Given the description of an element on the screen output the (x, y) to click on. 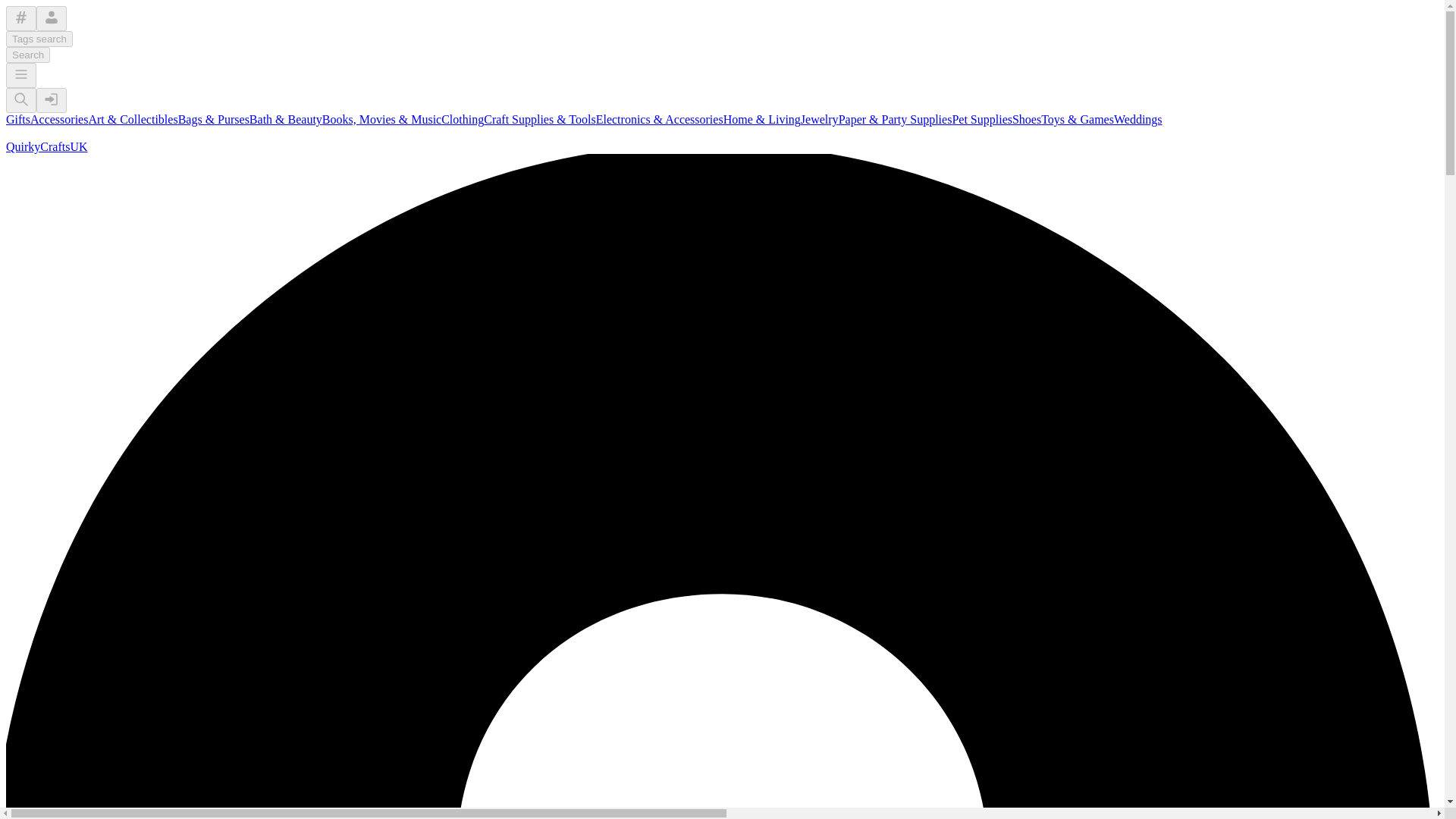
Clothing (462, 119)
Jewelry (819, 119)
Gifts (17, 119)
QuirkyCraftsUK (46, 146)
Pet Supplies (981, 119)
Weddings (1137, 119)
Shoes (1026, 119)
Tags search (38, 38)
Accessories (58, 119)
Search (27, 54)
